Given the description of an element on the screen output the (x, y) to click on. 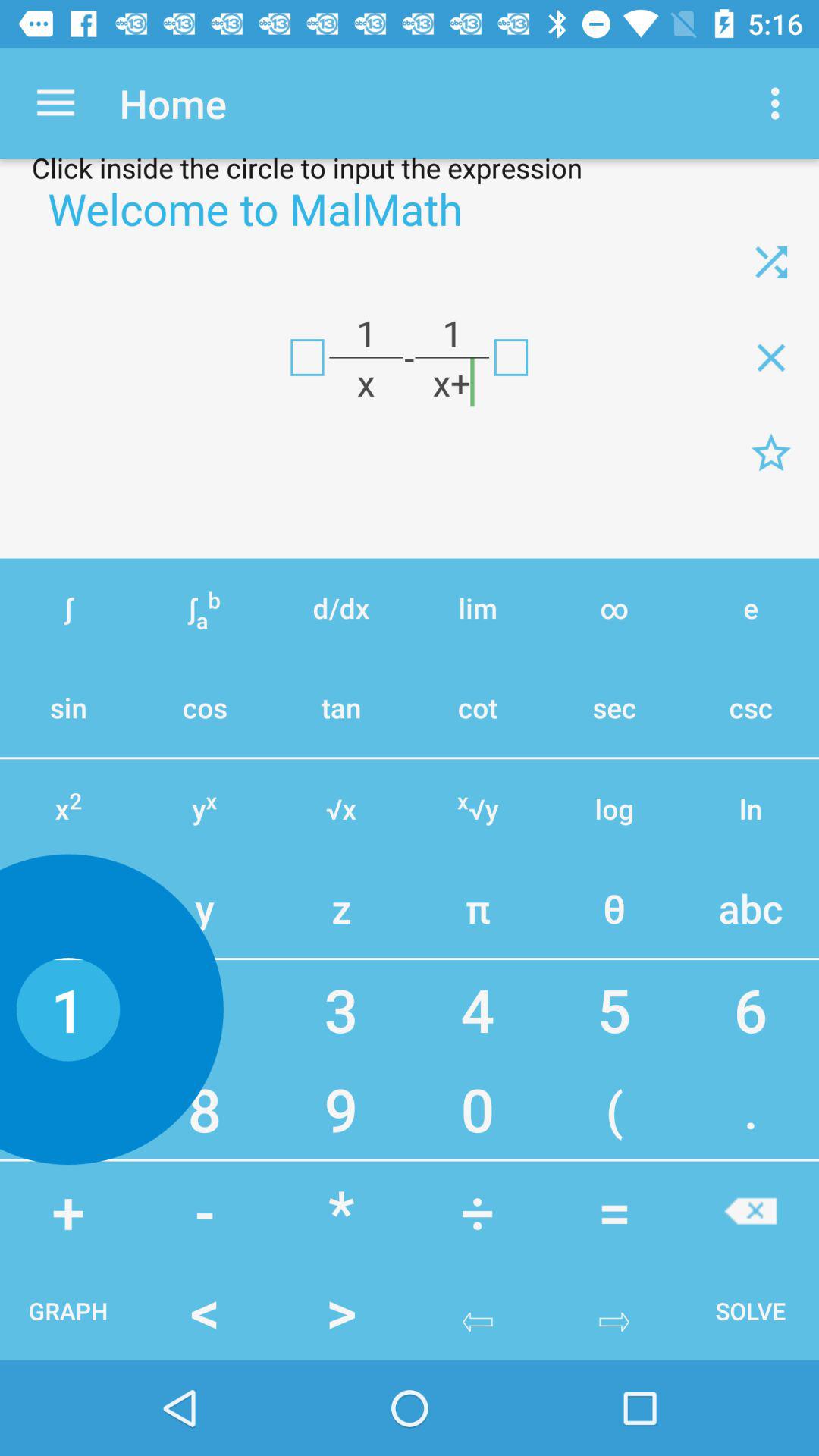
entering the datas (307, 357)
